Given the description of an element on the screen output the (x, y) to click on. 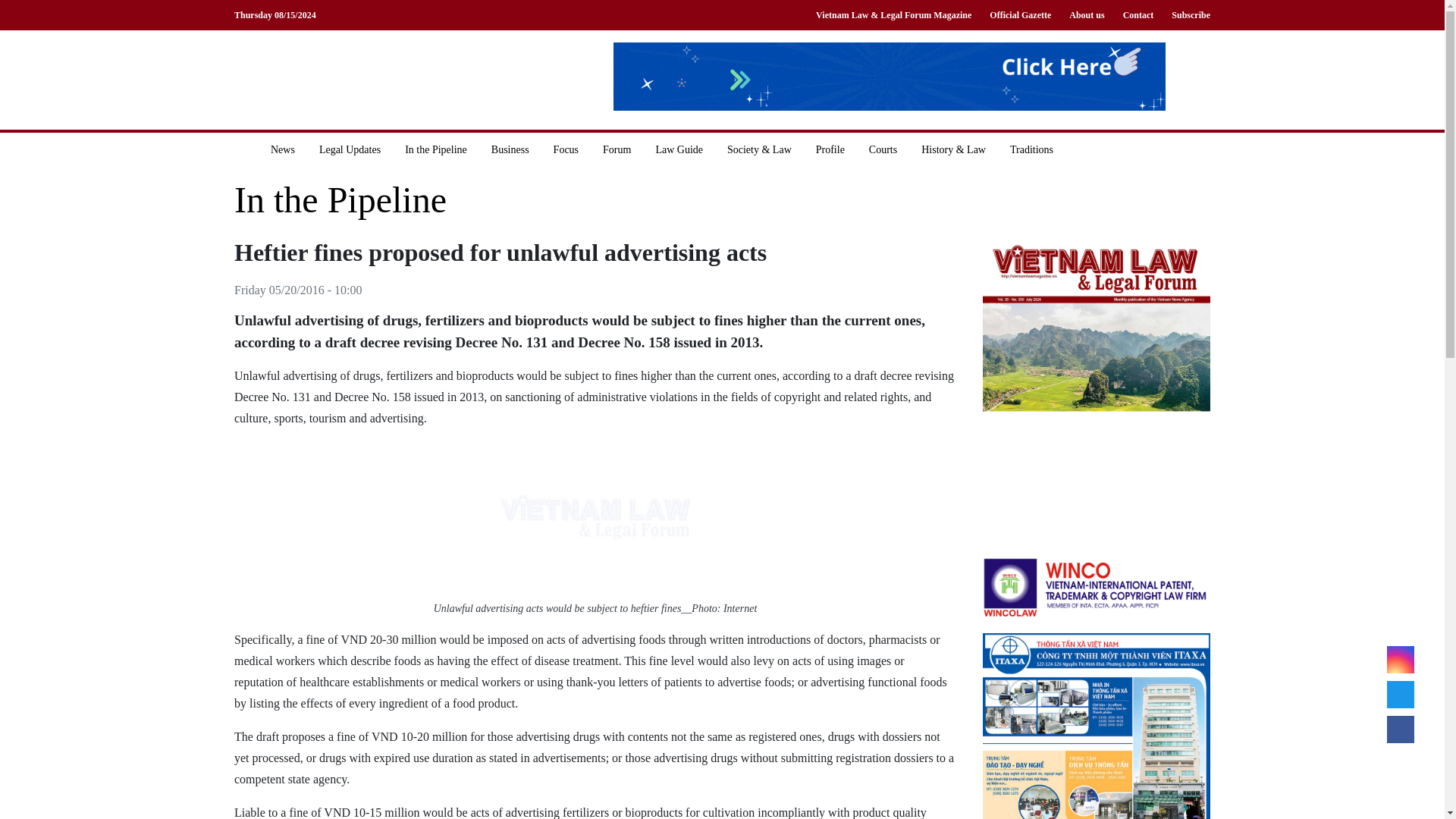
News (283, 149)
About us (1086, 15)
Business (510, 149)
Contact (1138, 15)
Legal Updates (350, 149)
Courts (882, 149)
Profile (830, 149)
home (246, 149)
Focus (566, 149)
icon search (1098, 149)
